Given the description of an element on the screen output the (x, y) to click on. 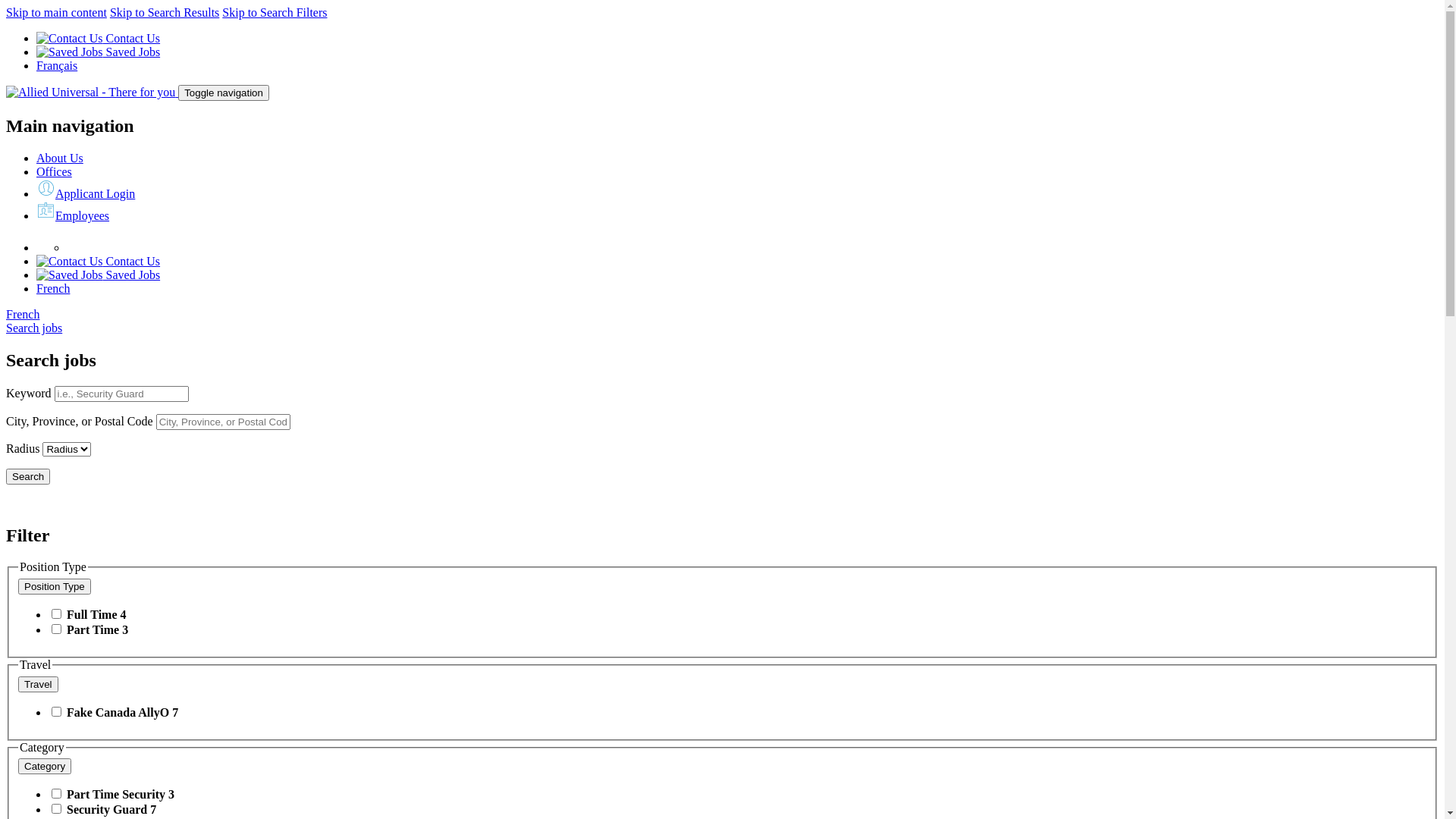
Search jobs Element type: text (34, 327)
Employees Element type: text (72, 215)
Home Element type: hover (92, 91)
French Element type: text (52, 288)
Toggle navigation Element type: text (223, 92)
Offices Element type: text (54, 171)
Contact Us Element type: text (98, 37)
Skip to Search Filters Element type: text (274, 12)
About Us Element type: text (59, 157)
Saved Jobs Element type: text (98, 51)
Facebook Element type: hover (74, 247)
Skip to main content Element type: text (56, 12)
Travel Element type: text (38, 684)
Applicant Login Element type: text (85, 193)
French Element type: text (22, 313)
Position Type Element type: text (54, 586)
Search Element type: text (28, 476)
Skip to Search Results Element type: text (164, 12)
Contact Us Element type: text (98, 260)
Category Element type: text (44, 766)
Saved Jobs Element type: text (98, 274)
